Given the description of an element on the screen output the (x, y) to click on. 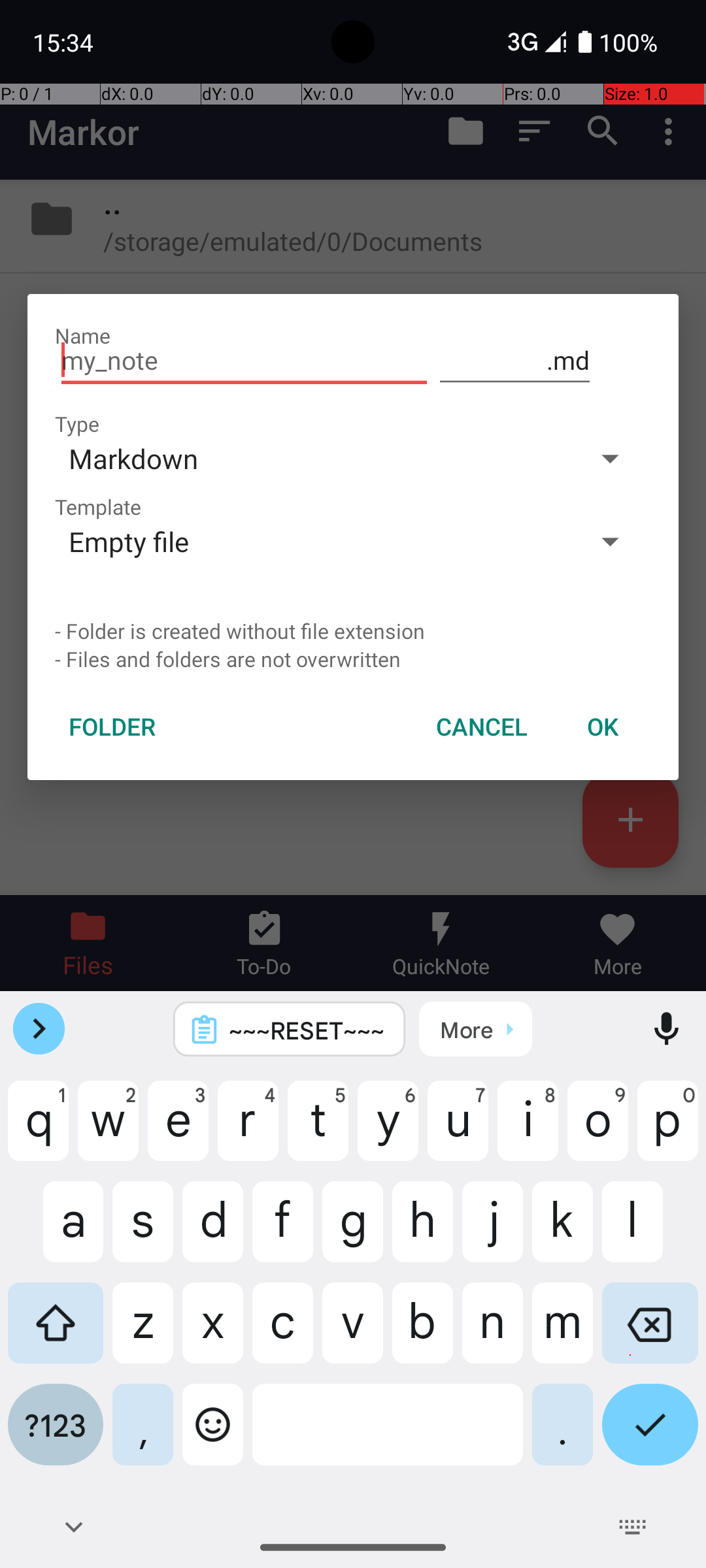
my_note Element type: android.widget.EditText (243, 360)
.md Element type: android.widget.EditText (514, 360)
Type Element type: android.widget.TextView (76, 423)
Template Element type: android.widget.TextView (97, 506)
- Folder is created without file extension Element type: android.widget.TextView (352, 630)
- Files and folders are not overwritten Element type: android.widget.TextView (352, 658)
FOLDER Element type: android.widget.Button (111, 726)
Markdown Element type: android.widget.TextView (311, 457)
Empty file Element type: android.widget.TextView (311, 540)
Click to open Clipboard Element type: android.view.ViewGroup (475, 1028)
~~~RESET~~~ Element type: android.widget.TextView (306, 1029)
